Given the description of an element on the screen output the (x, y) to click on. 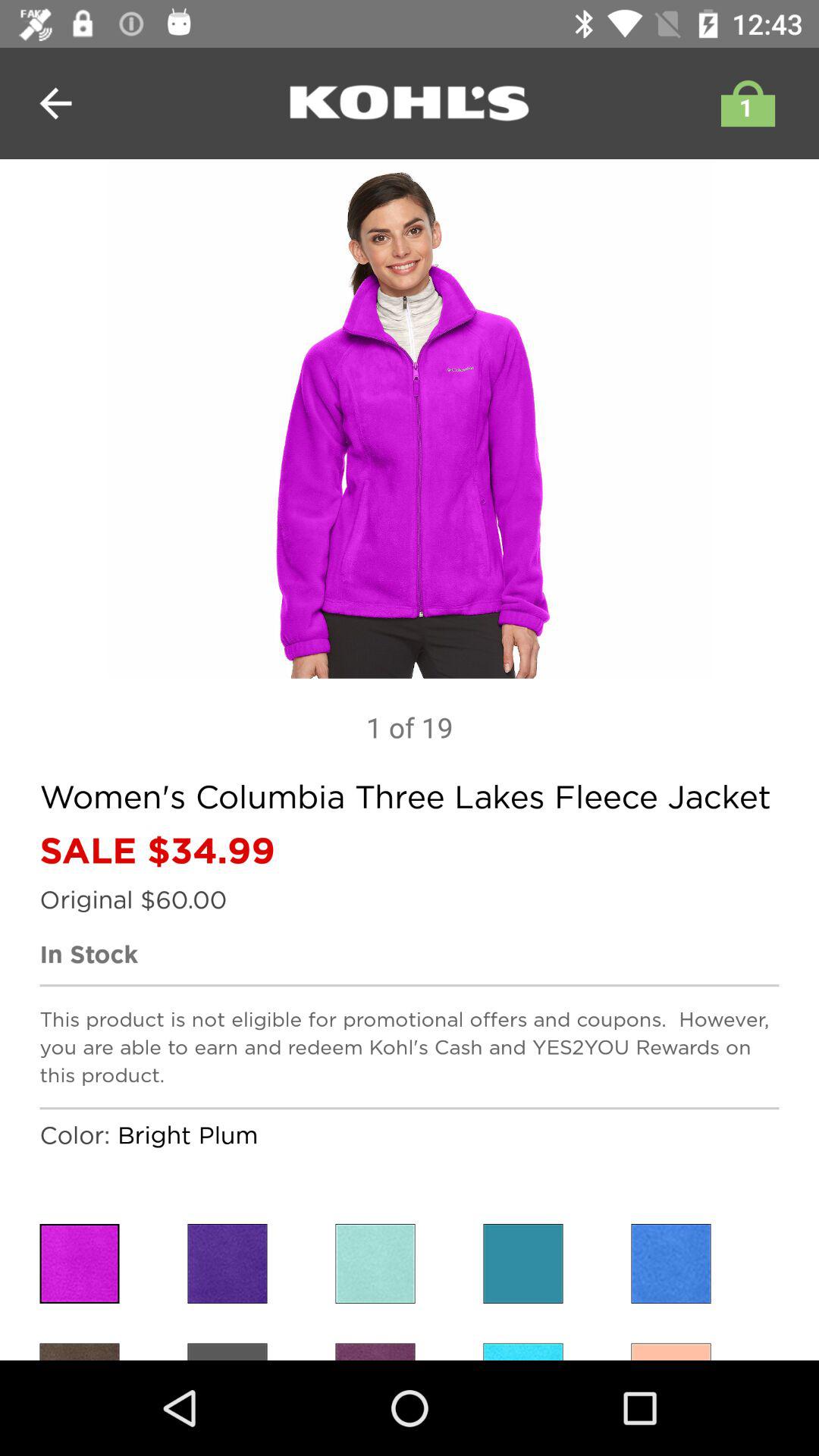
view basket (744, 103)
